Given the description of an element on the screen output the (x, y) to click on. 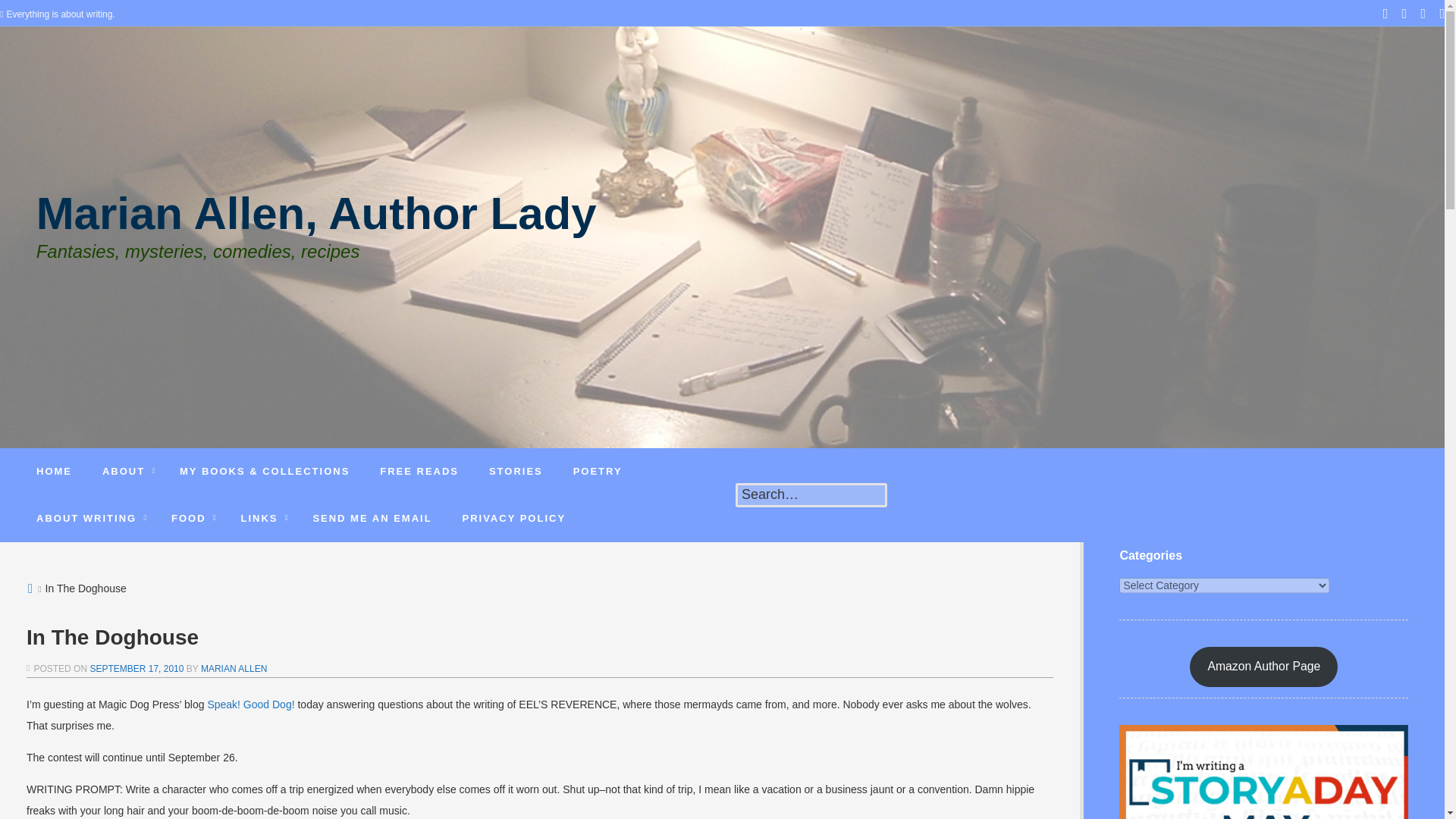
HOME (54, 471)
View all posts by Marian Allen (233, 668)
In The Doghouse (539, 637)
Marian Allen, Author Lady (316, 224)
ABOUT (125, 471)
10:32 am (135, 668)
